Given the description of an element on the screen output the (x, y) to click on. 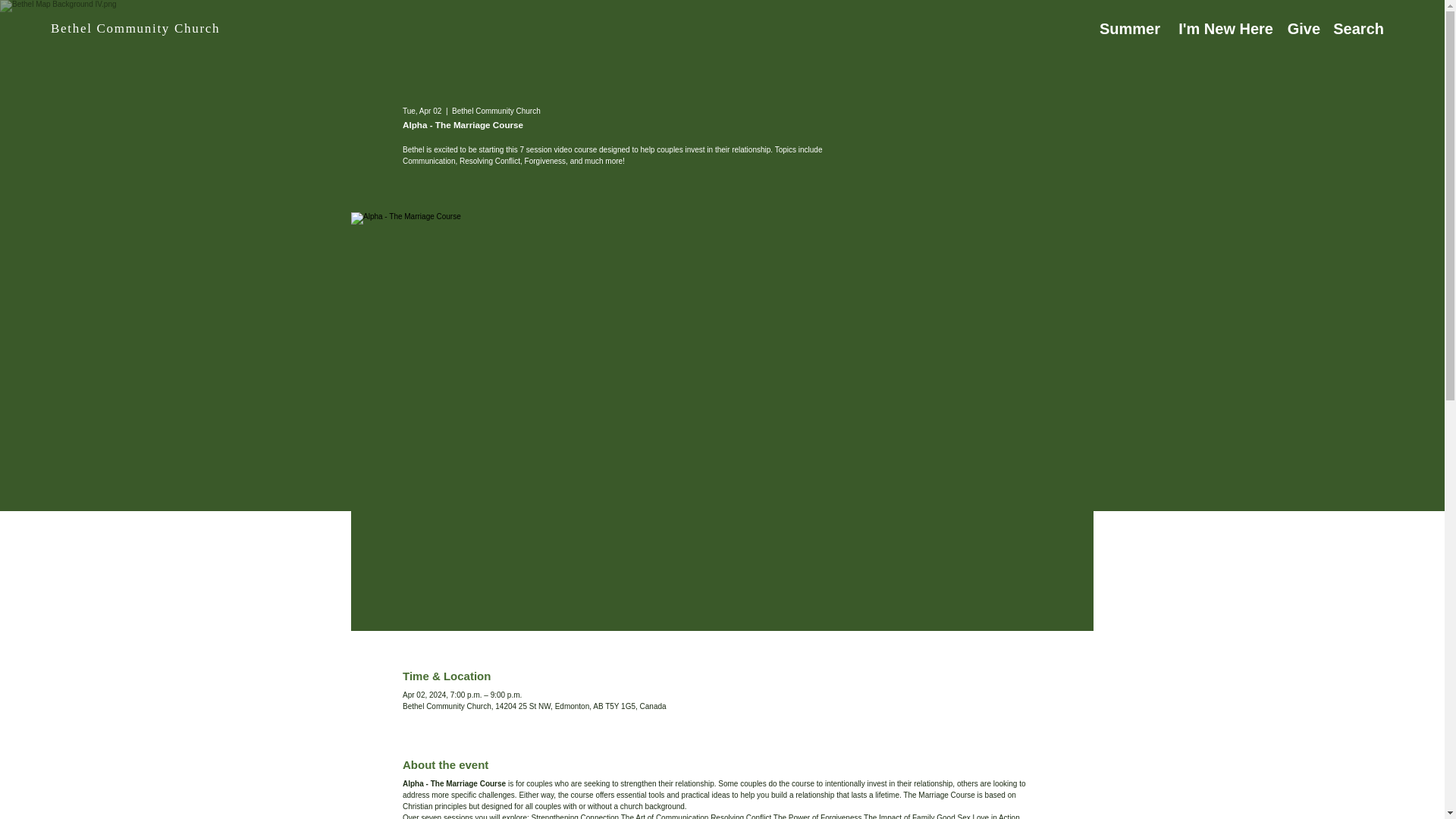
Give (1297, 28)
Summer (1122, 28)
Bethel Community Church (134, 28)
I'm New Here (1217, 28)
Search (1353, 28)
